Given the description of an element on the screen output the (x, y) to click on. 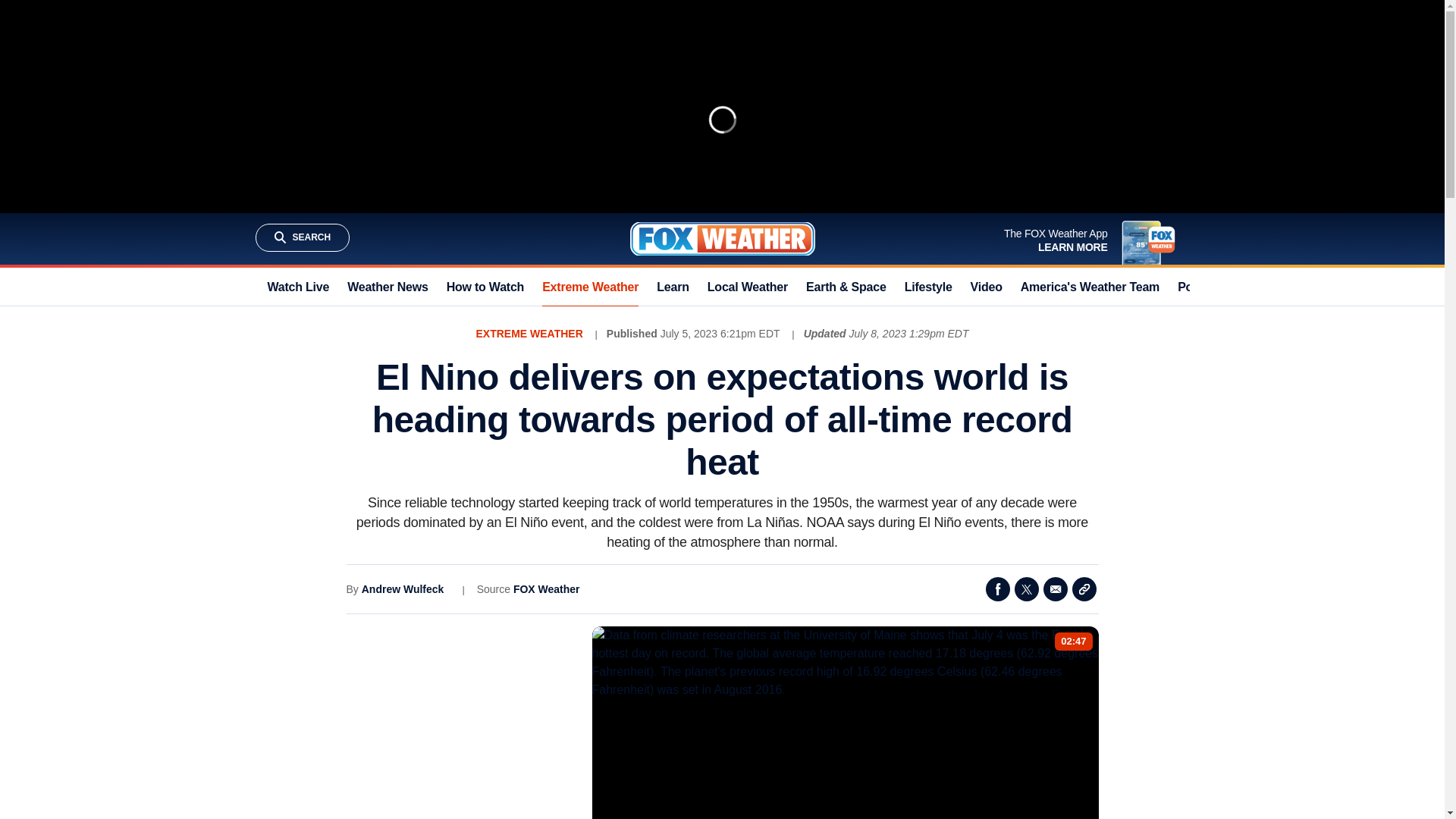
SEARCH (302, 237)
02:47 (1073, 641)
Watch Live (297, 286)
Lifestyle (928, 286)
Andrew Wulfeck (402, 589)
EXTREME WEATHER (529, 333)
Email (1055, 589)
Copy Link (1083, 589)
Weather News (387, 286)
Facebook (997, 589)
